Given the description of an element on the screen output the (x, y) to click on. 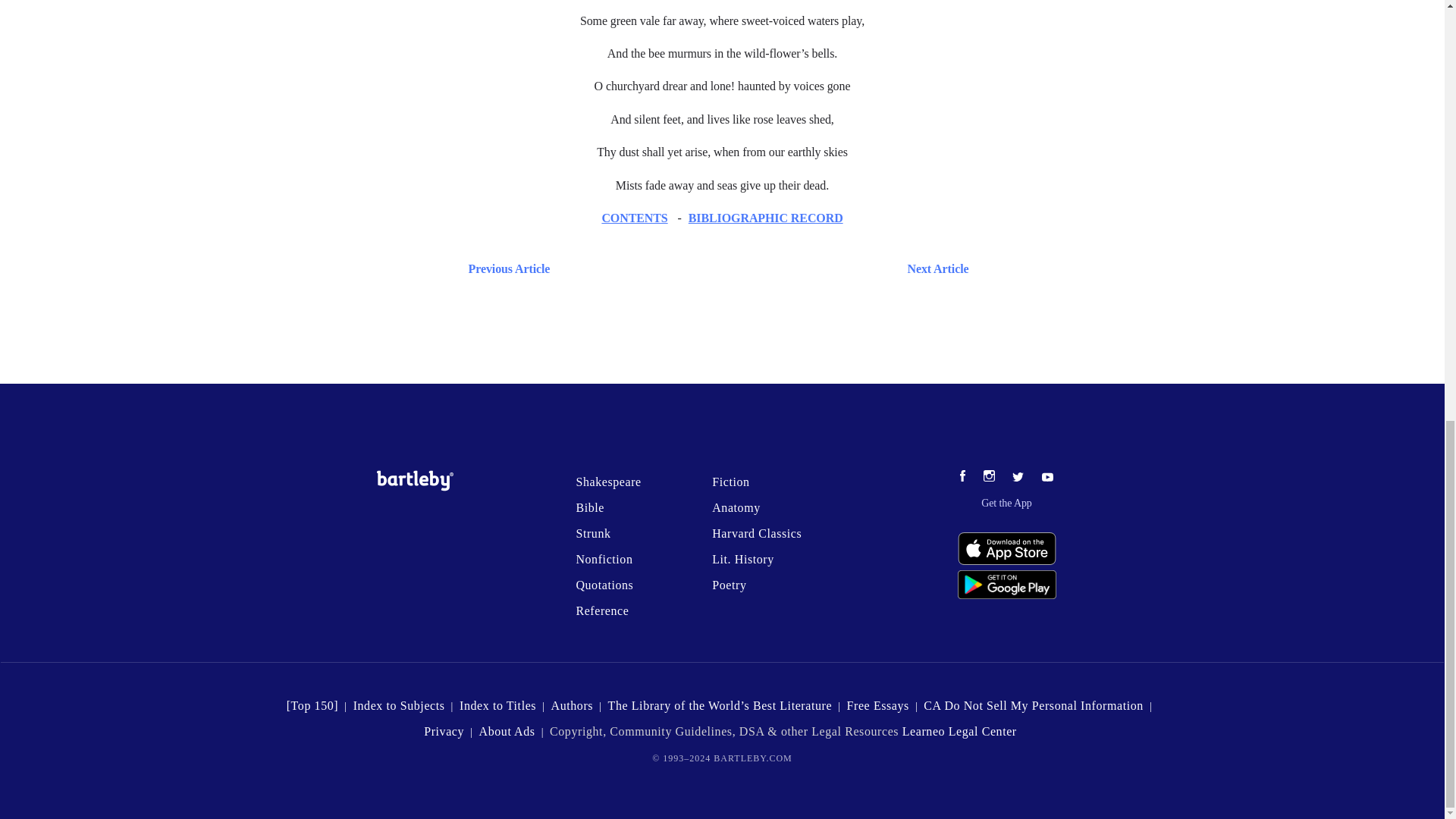
Poetry (728, 584)
Previous Article (505, 268)
Quotations (604, 584)
Shakespeare (607, 481)
CONTENTS (633, 217)
Strunk (592, 533)
Harvard Classics (756, 533)
Bible (589, 507)
Next Article (766, 268)
Anatomy (735, 507)
Lit. History (742, 558)
Reference (601, 610)
BIBLIOGRAPHIC RECORD (765, 217)
Nonfiction (603, 558)
Fiction (730, 481)
